Given the description of an element on the screen output the (x, y) to click on. 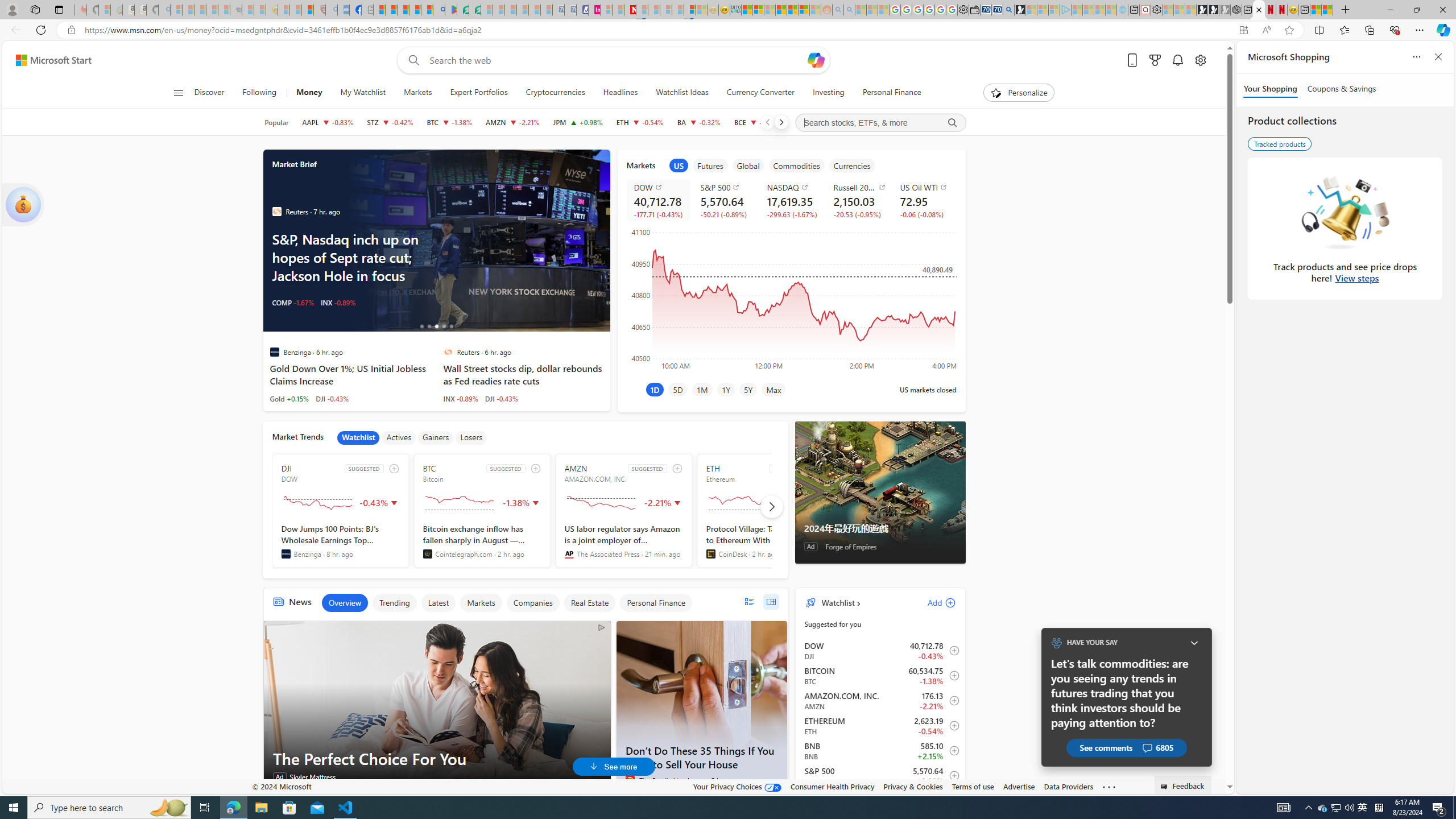
COMP -1.67% (293, 302)
BTC SUGGESTED Bitcoin (481, 510)
Watchlist Ideas (682, 92)
Real Estate (589, 602)
Your Privacy Choices (737, 785)
1D (654, 389)
AMZN AMAZON.COM, INC. decrease 176.13 -3.98 -2.21% (512, 122)
add to watchlist (676, 468)
DJI DOW decrease 40,712.78 -177.71 -0.43% item0 (880, 650)
